Given the description of an element on the screen output the (x, y) to click on. 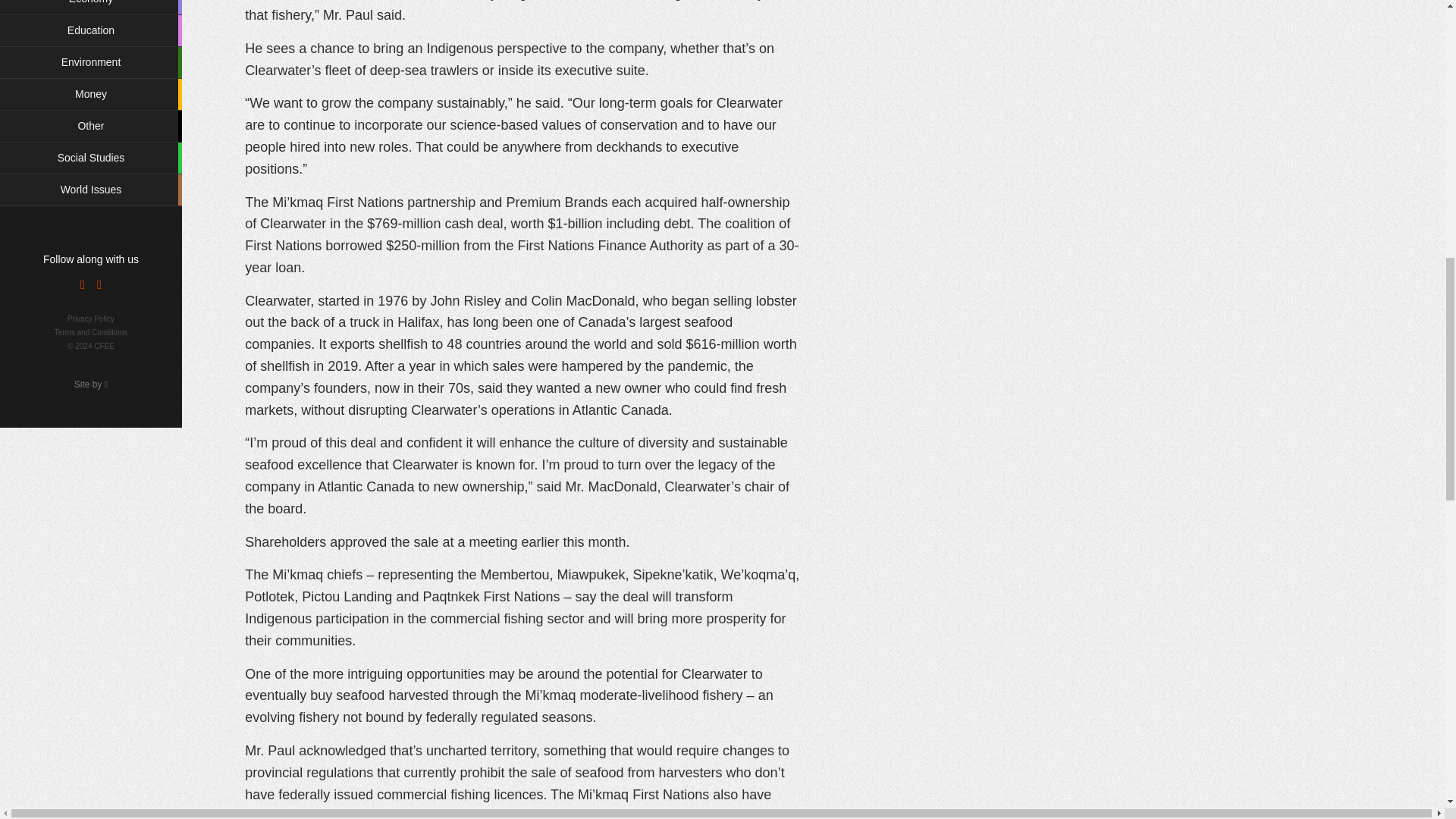
Other (91, 125)
Site by (90, 384)
Education (91, 30)
Terms and Conditions (91, 332)
Social Studies (91, 157)
Money (91, 93)
Environment (91, 61)
Privacy Policy (90, 318)
Economy (91, 7)
World Issues (91, 189)
